Given the description of an element on the screen output the (x, y) to click on. 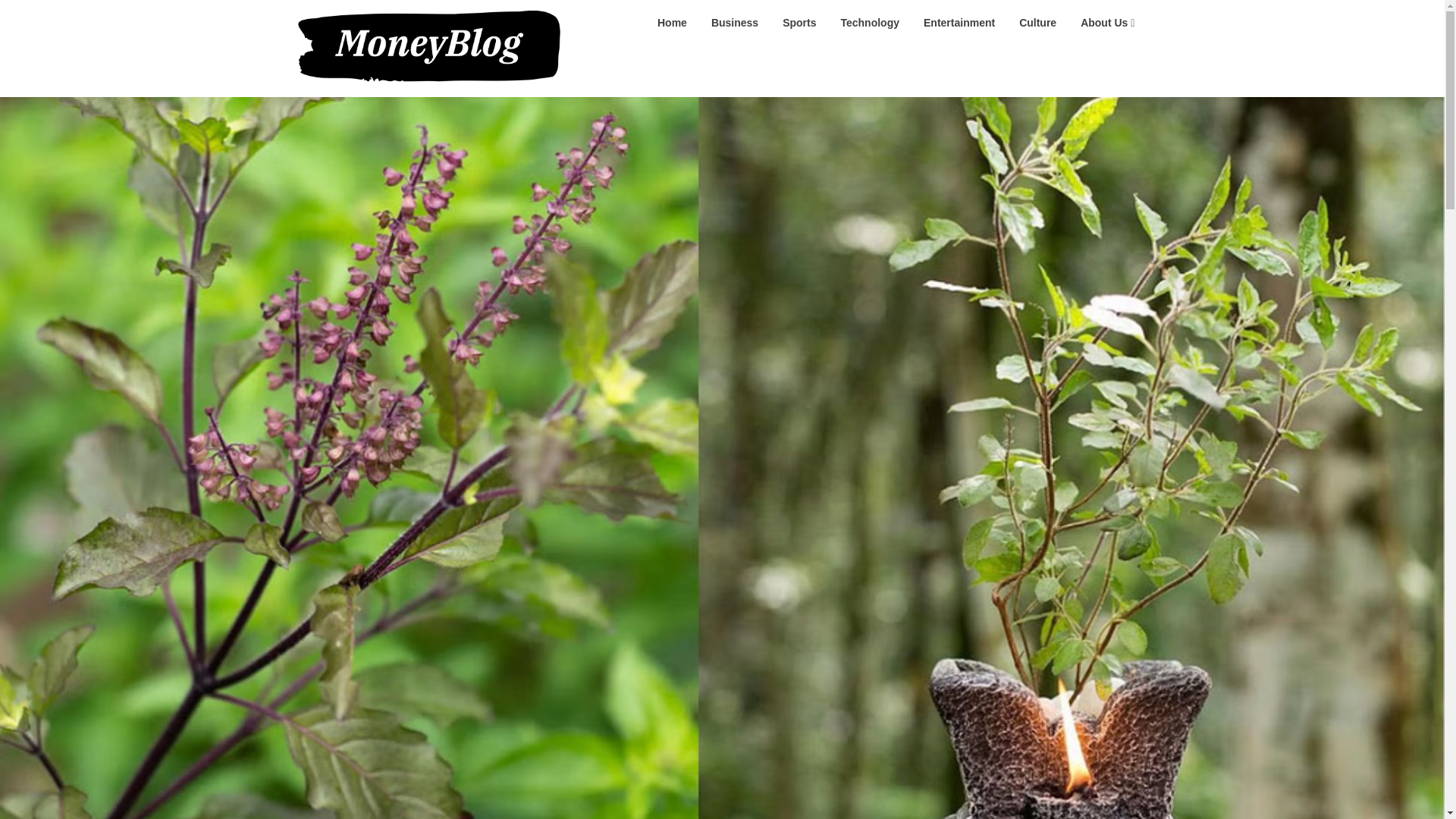
Home (671, 22)
About Us (1107, 22)
Business (734, 22)
Entertainment (959, 22)
Culture (1037, 22)
rafflesplace.my.id (638, 21)
Sports (799, 22)
Technology (869, 22)
